Given the description of an element on the screen output the (x, y) to click on. 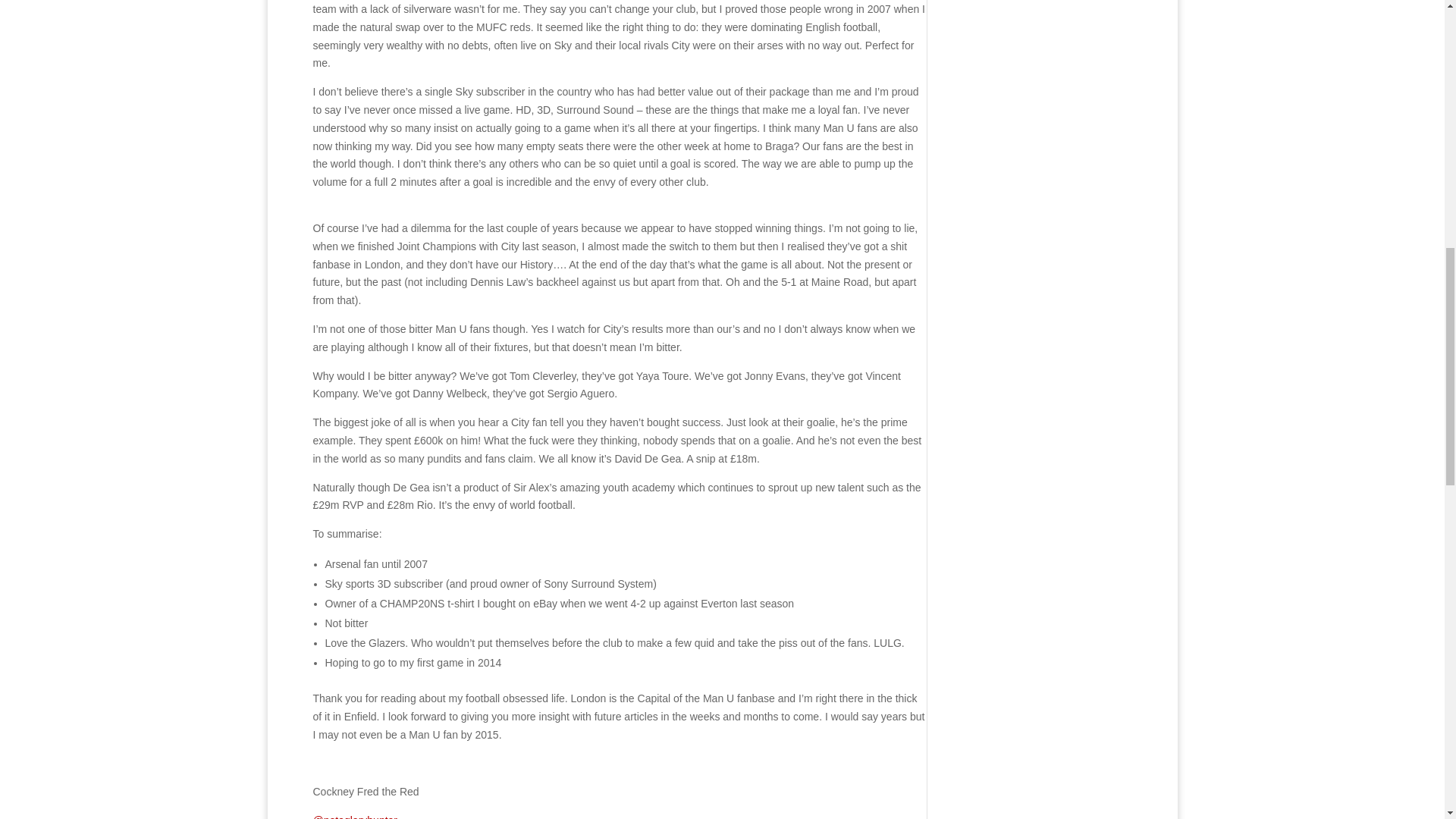
cockneyfredthered (355, 816)
